Given the description of an element on the screen output the (x, y) to click on. 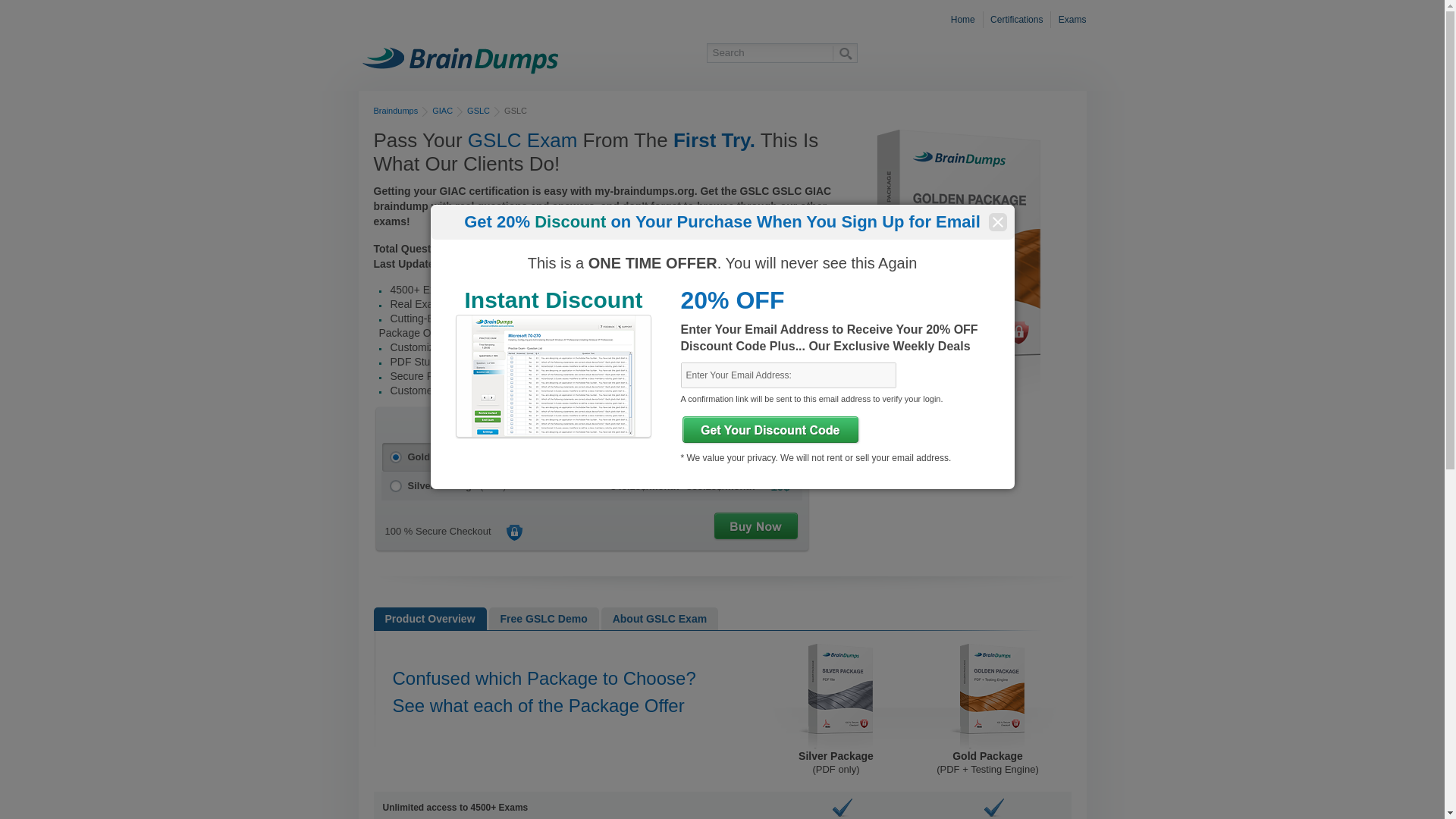
my-braindumps.org (460, 58)
Enter Your Email Address: (788, 375)
Braindumps (394, 110)
Certifications (1018, 19)
GSLC (478, 110)
Home (965, 19)
Free GSLC Demo (543, 618)
Buy Now (755, 525)
About GSLC Exam (659, 618)
Product Overview (429, 618)
Search (768, 53)
GIAC (442, 110)
Search (844, 53)
Close (996, 221)
Get Your Discount Code (770, 429)
